Given the description of an element on the screen output the (x, y) to click on. 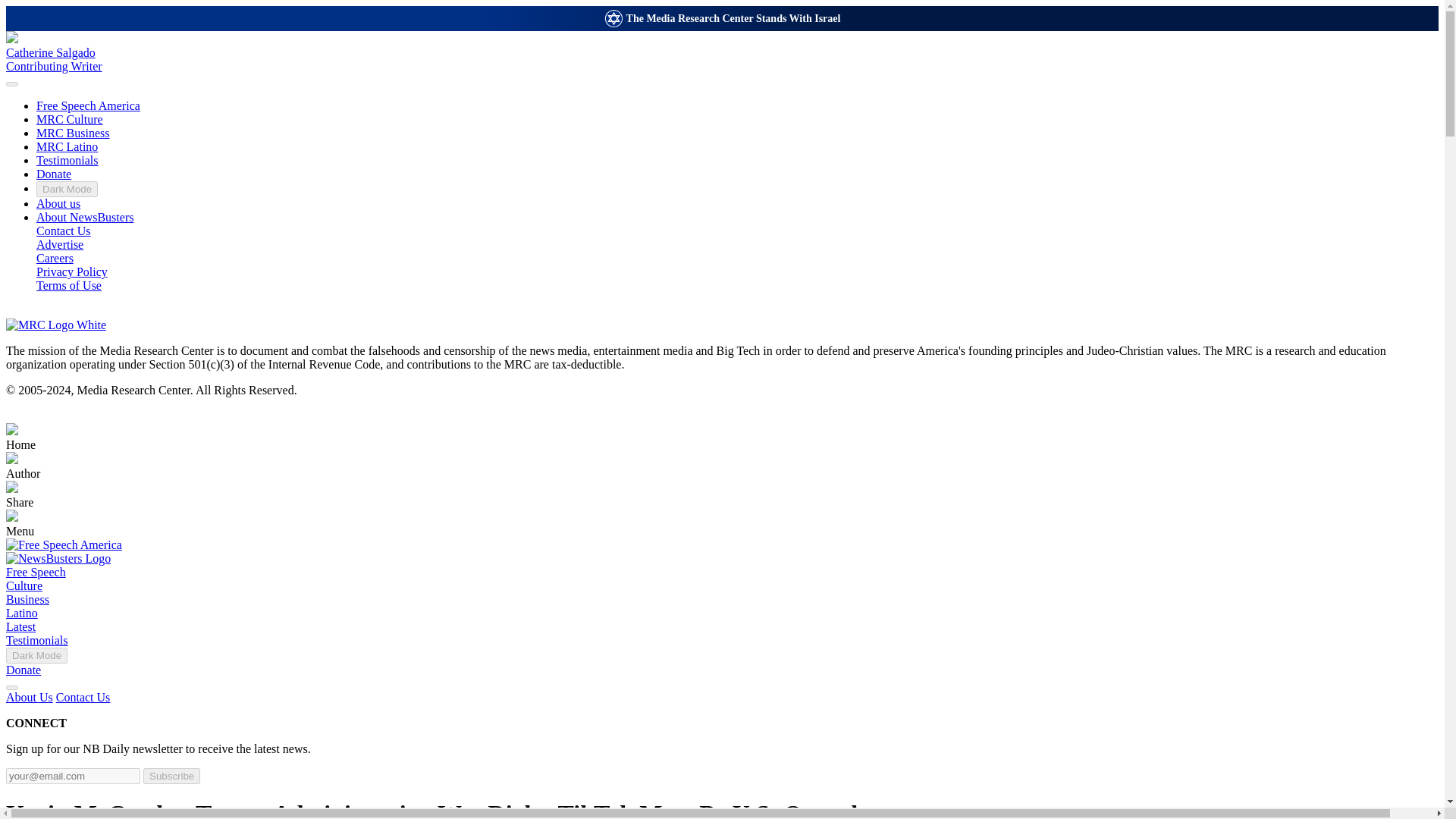
Testimonials (36, 640)
Dark Mode (66, 188)
About NewsBusters (721, 52)
